Given the description of an element on the screen output the (x, y) to click on. 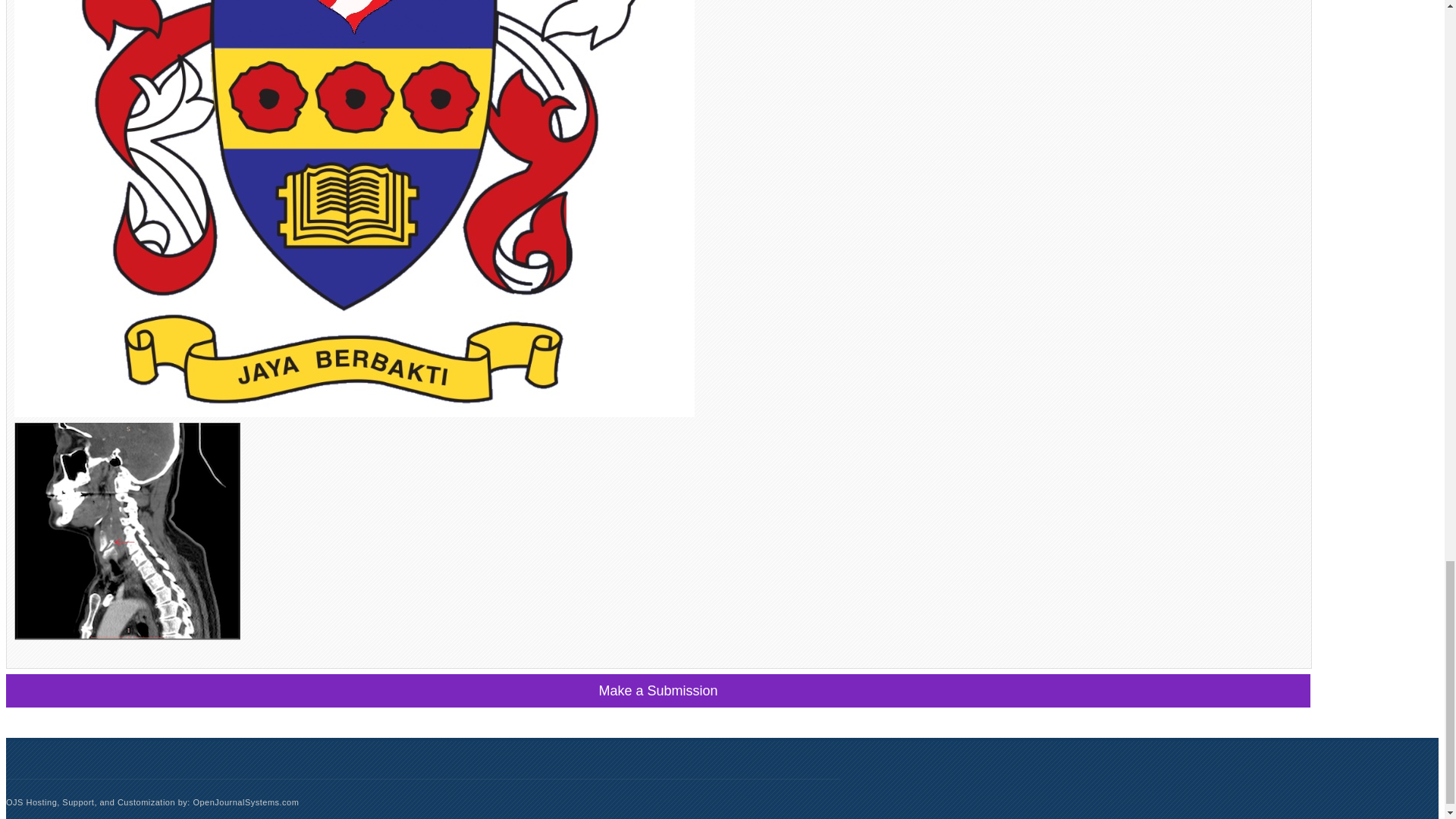
OpenJournalSystems.com (245, 801)
Make a Submission (657, 690)
